Given the description of an element on the screen output the (x, y) to click on. 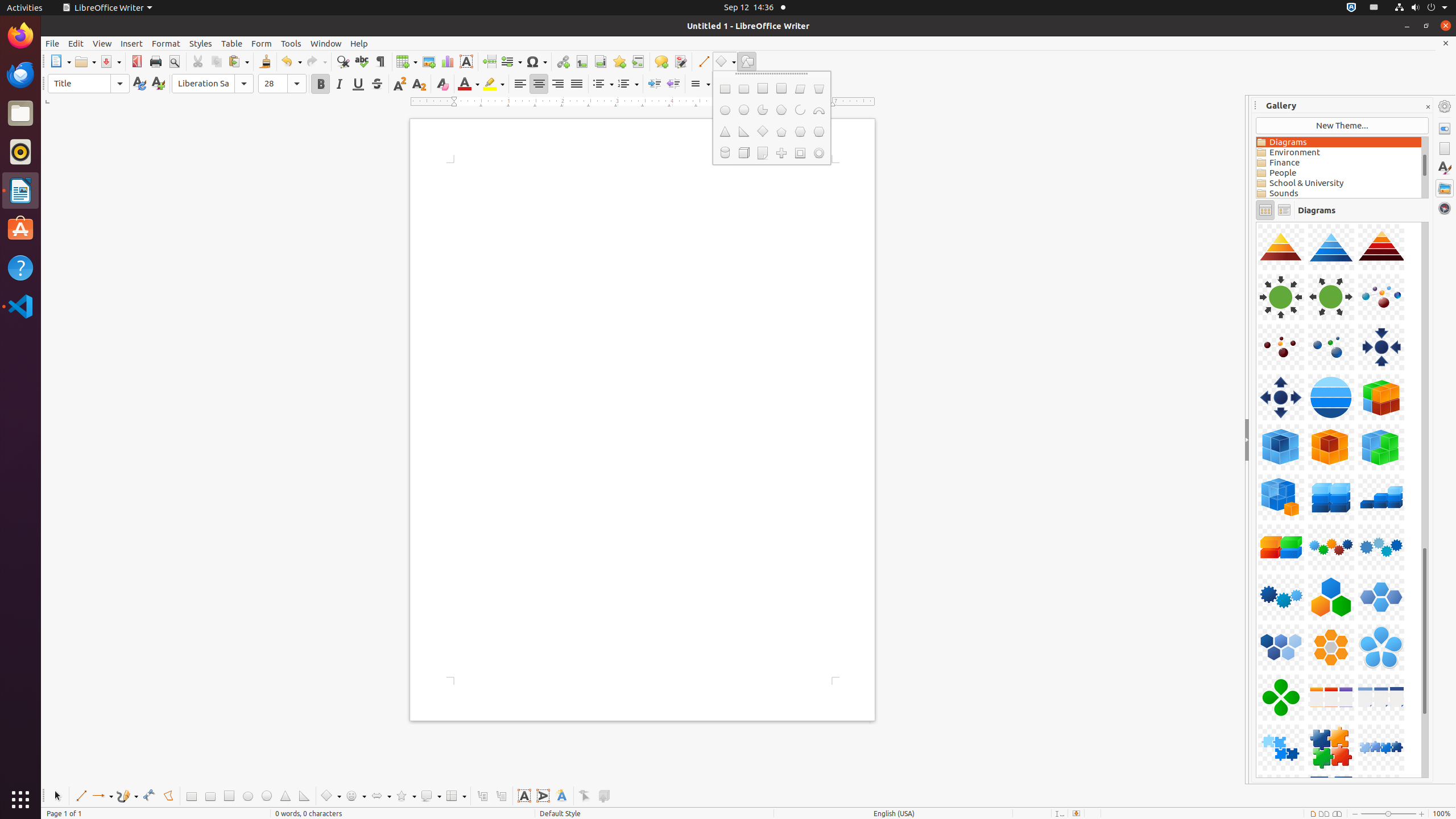
Field Element type: push-button (510, 61)
Flowchart Shapes Element type: push-button (455, 795)
Component-PuzzlePiece03-Green Element type: list-item (1256, 222)
Component-Circle02-Transparent-Bule Element type: list-item (1256, 222)
People Element type: list-item (1338, 172)
